Given the description of an element on the screen output the (x, y) to click on. 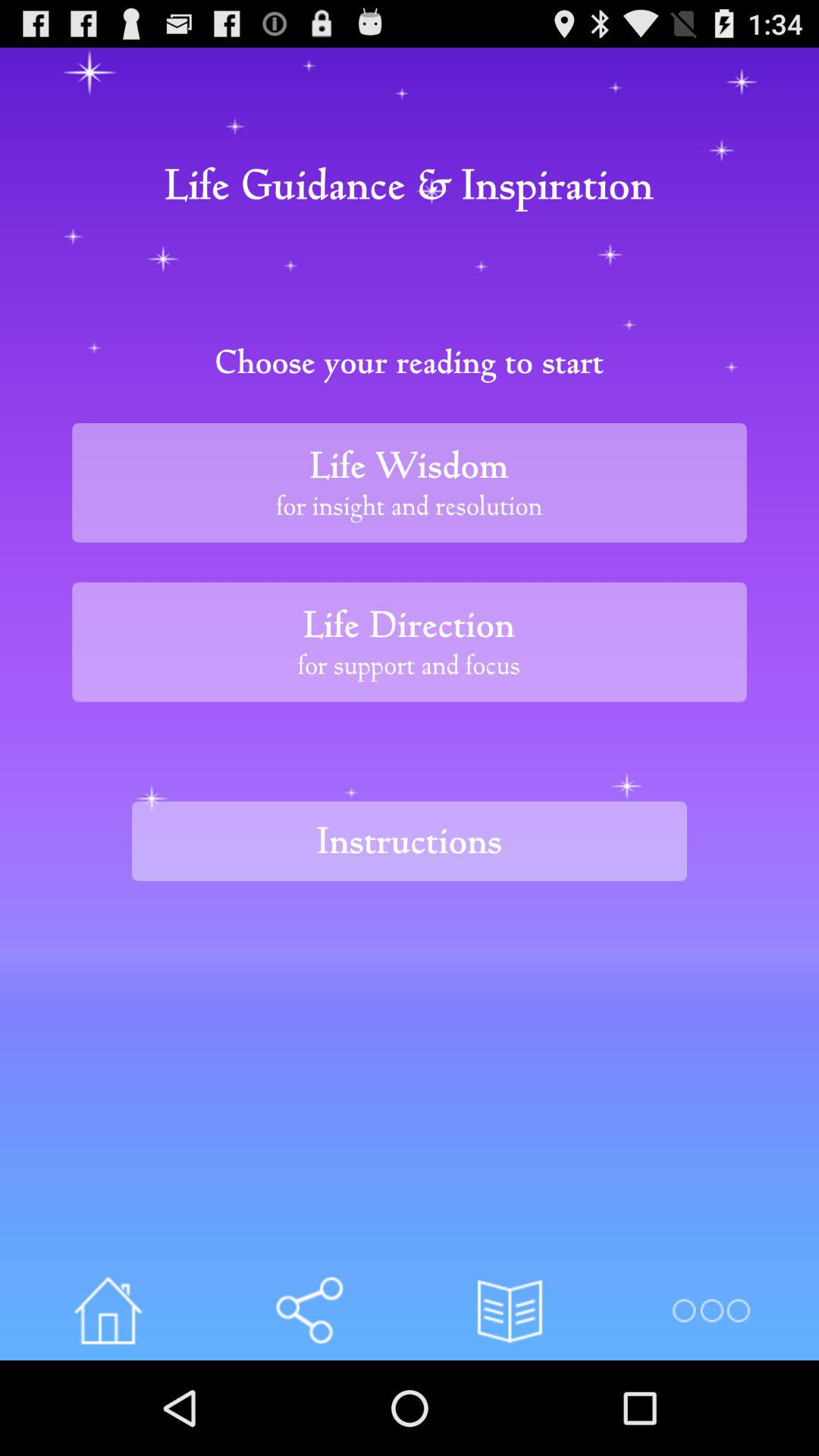
turn on the icon at the bottom right corner (710, 1310)
